Given the description of an element on the screen output the (x, y) to click on. 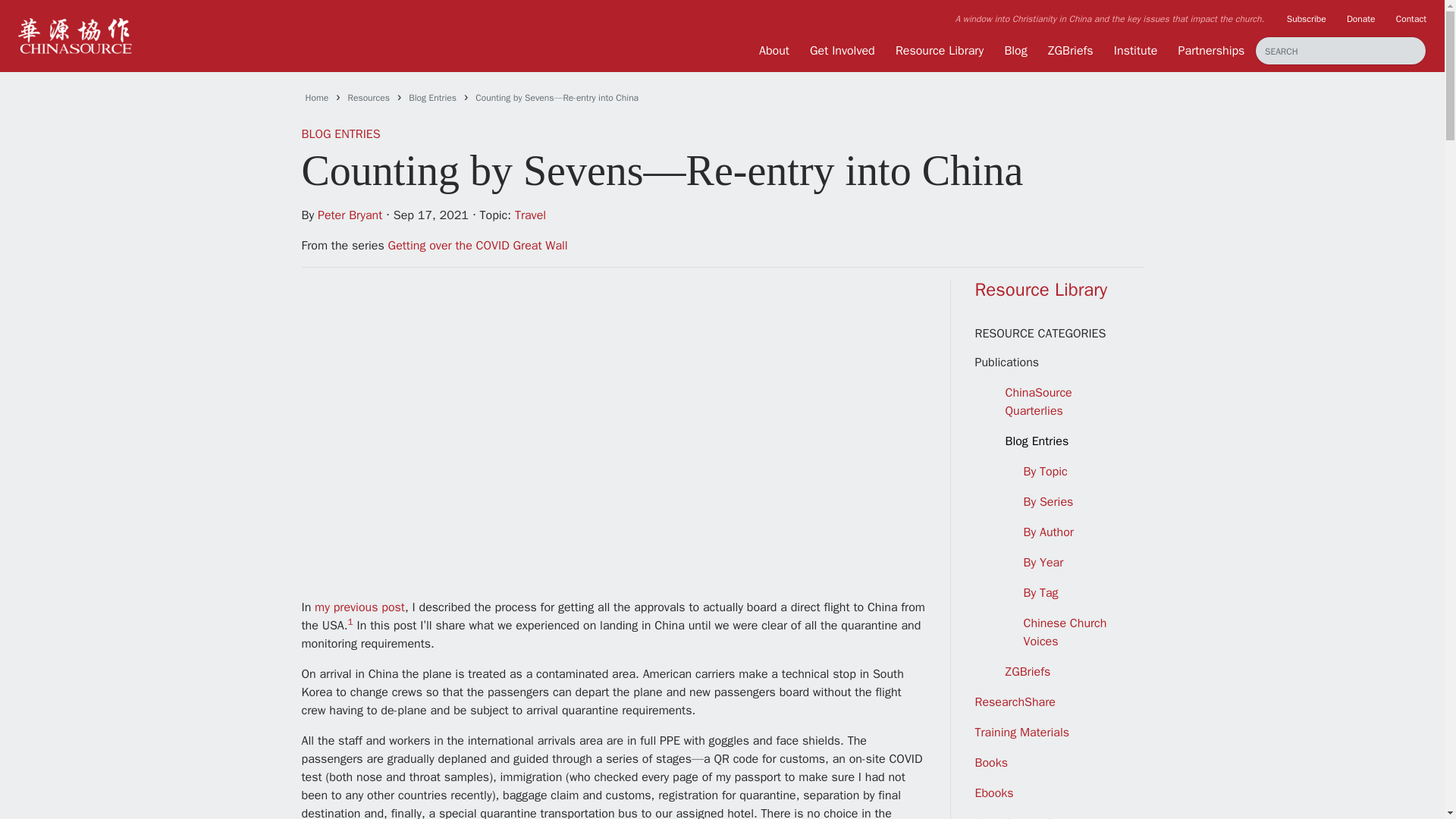
Travel (530, 215)
Partnerships (1210, 50)
ZGBriefs (1070, 50)
BLOG ENTRIES (340, 133)
Get Involved (842, 50)
Blog Entries (433, 97)
Home (316, 97)
Home (316, 97)
Blog (1015, 50)
Subscribe (1306, 18)
Institute (1135, 50)
Peter Bryant (349, 215)
Resource Library (939, 50)
About (773, 50)
Resources (368, 97)
